Given the description of an element on the screen output the (x, y) to click on. 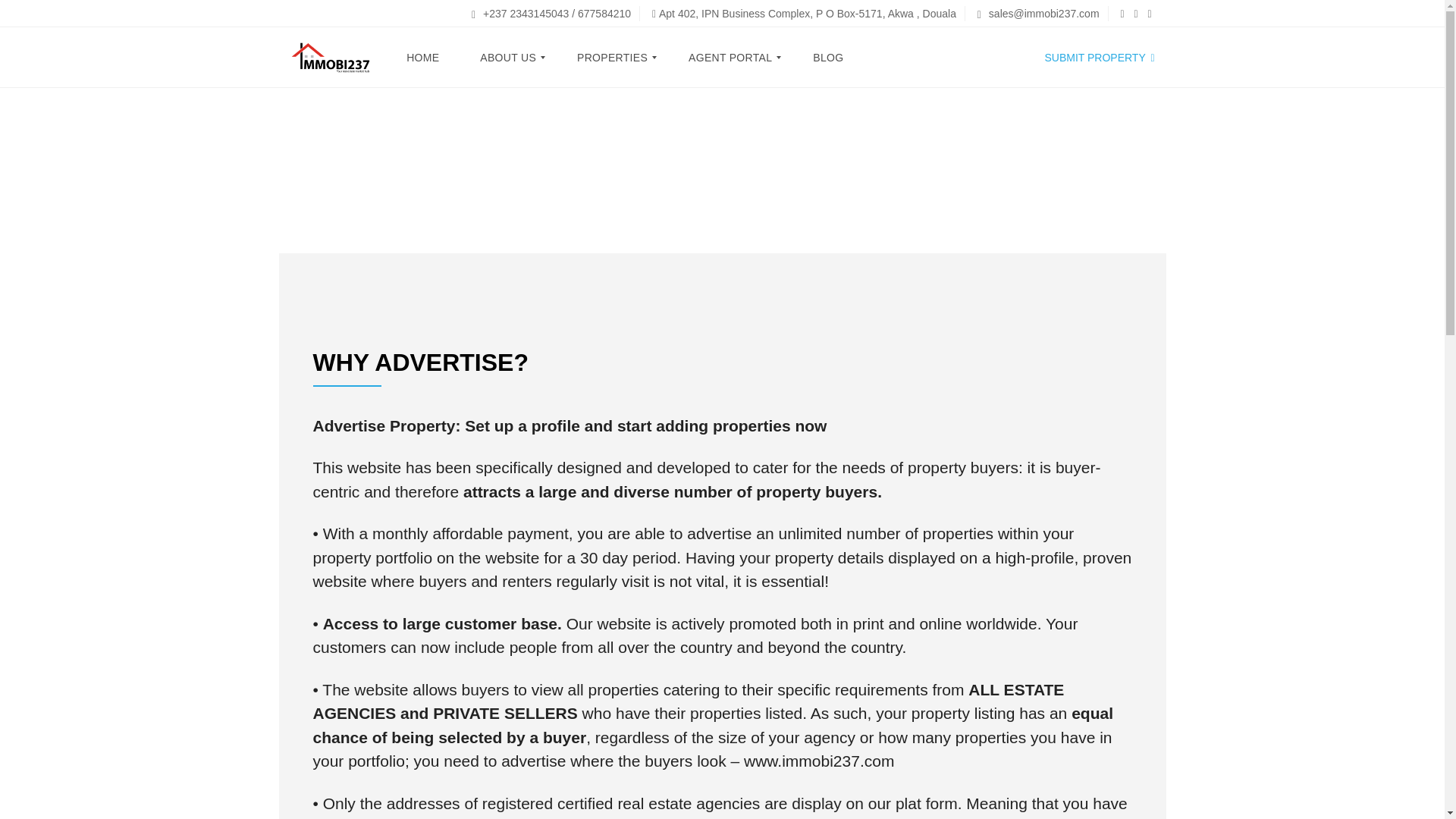
Submit property (1098, 57)
ABOUT US (507, 57)
AGENT PORTAL (729, 57)
Immobi (329, 57)
PROPERTIES (612, 57)
BLOG (827, 57)
SUBMIT PROPERTY (1098, 57)
